Given the description of an element on the screen output the (x, y) to click on. 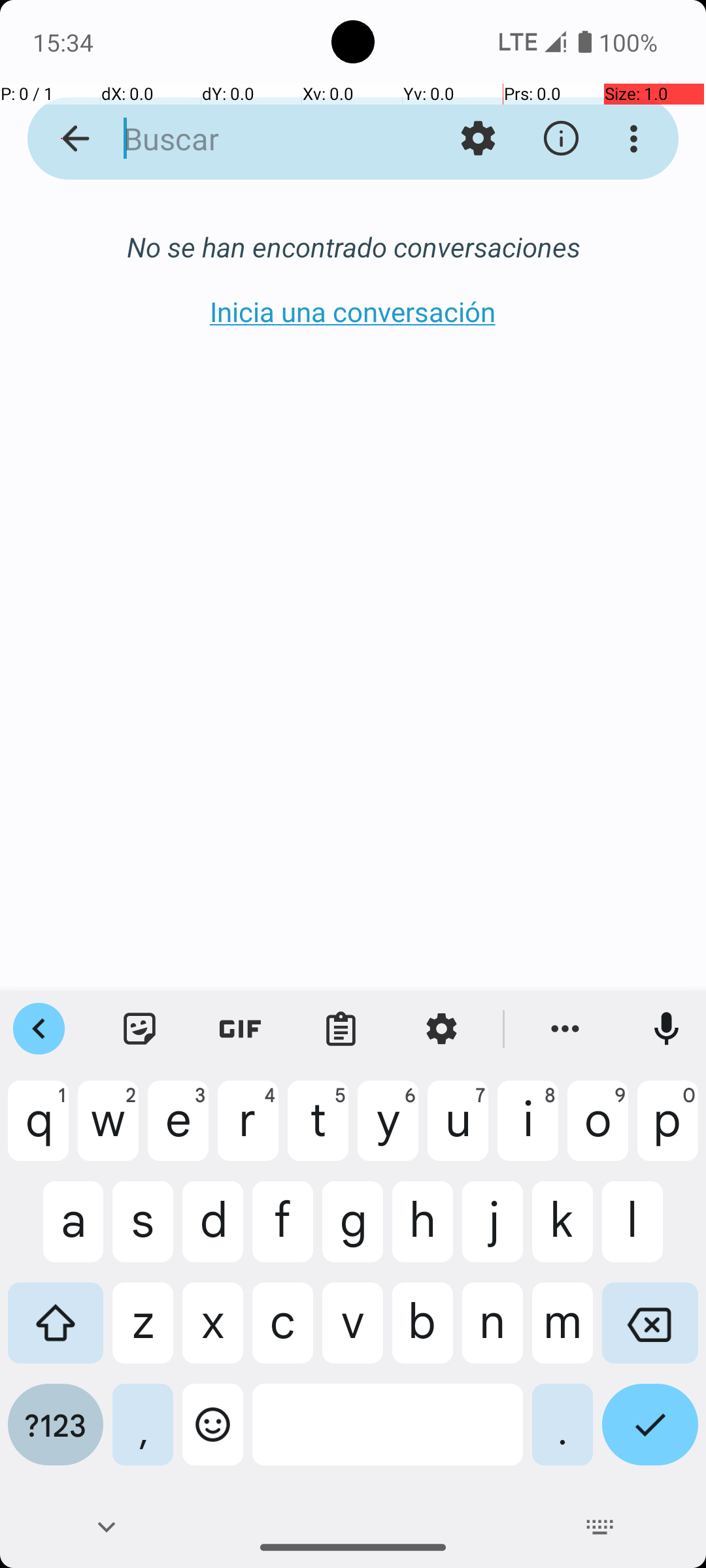
No se han encontrado conversaciones Element type: android.widget.TextView (353, 246)
Inicia una conversación Element type: android.widget.TextView (352, 311)
